Given the description of an element on the screen output the (x, y) to click on. 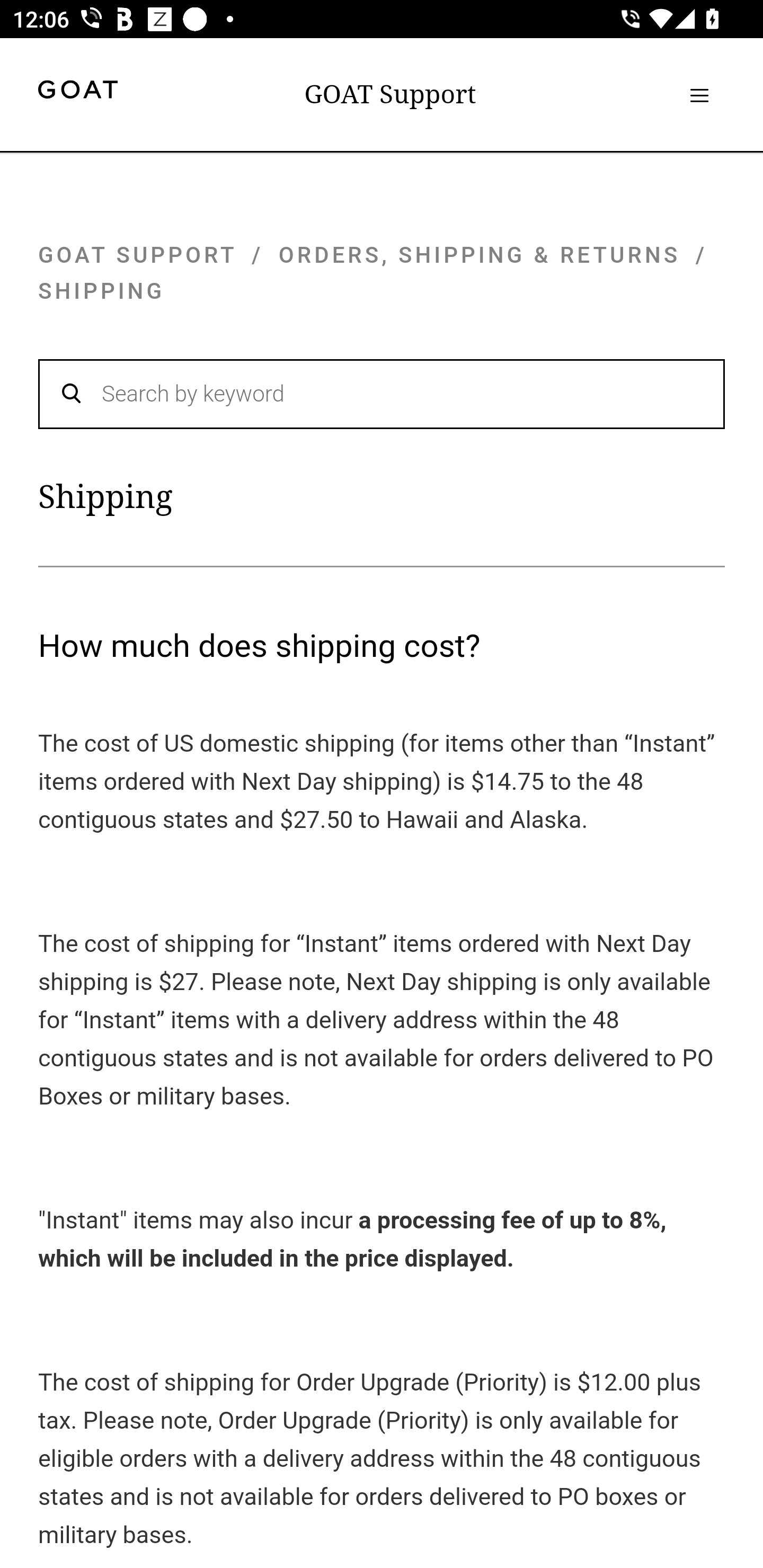
goat header logo (77, 92)
Toggle navigation menu (698, 94)
GOAT Support (389, 94)
GOAT SUPPORT (137, 254)
ORDERS, SHIPPING & RETURNS (480, 254)
SHIPPING (101, 291)
